Given the description of an element on the screen output the (x, y) to click on. 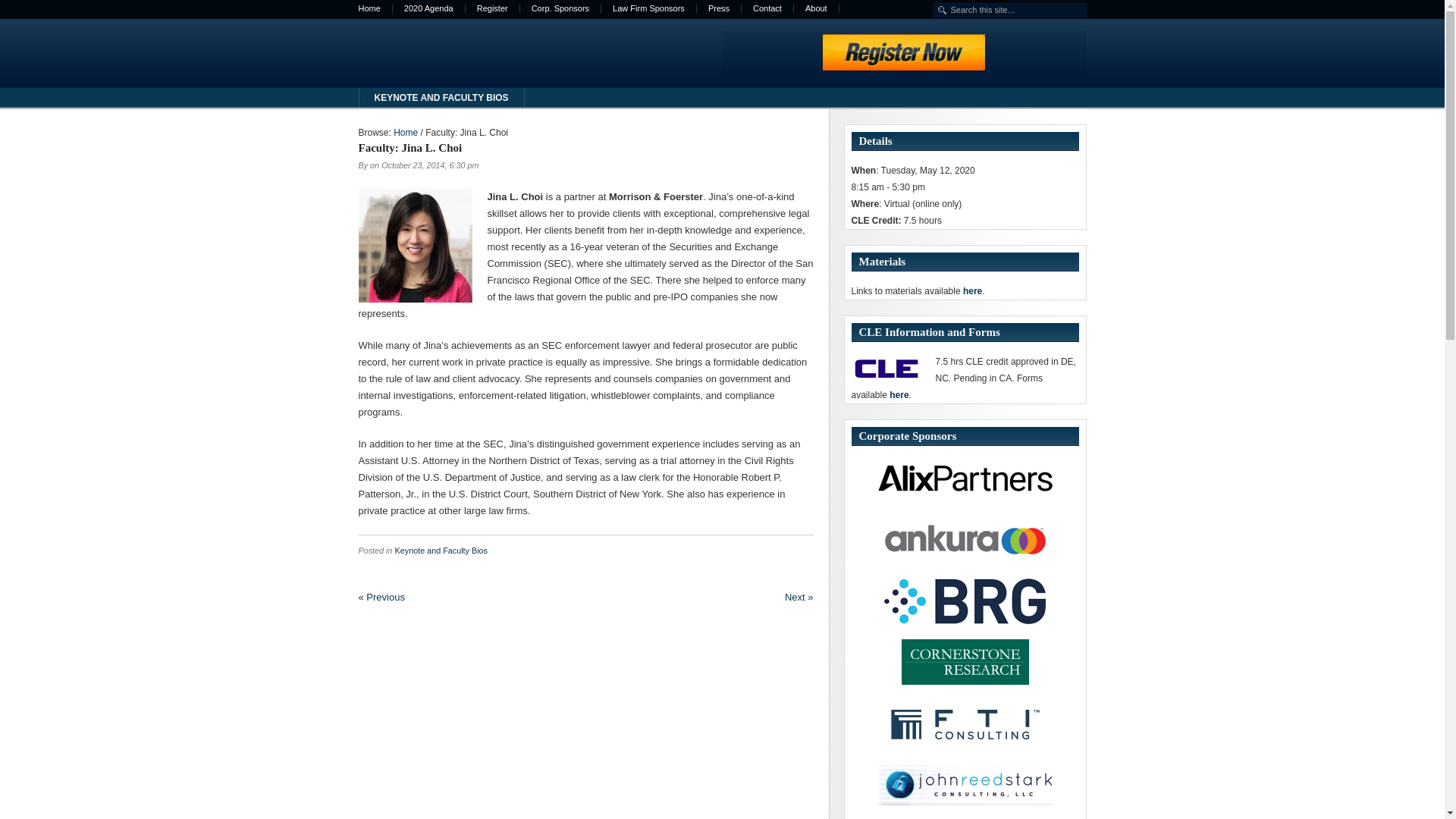
Home (370, 8)
Search (64, 5)
2020 Agenda (429, 8)
Faculty: Jina L. Choi (409, 147)
here (898, 394)
Press (719, 8)
Search this site... (1009, 10)
here (971, 290)
Corp. Sponsors (560, 8)
Keynote and Faculty Bios (440, 550)
